Given the description of an element on the screen output the (x, y) to click on. 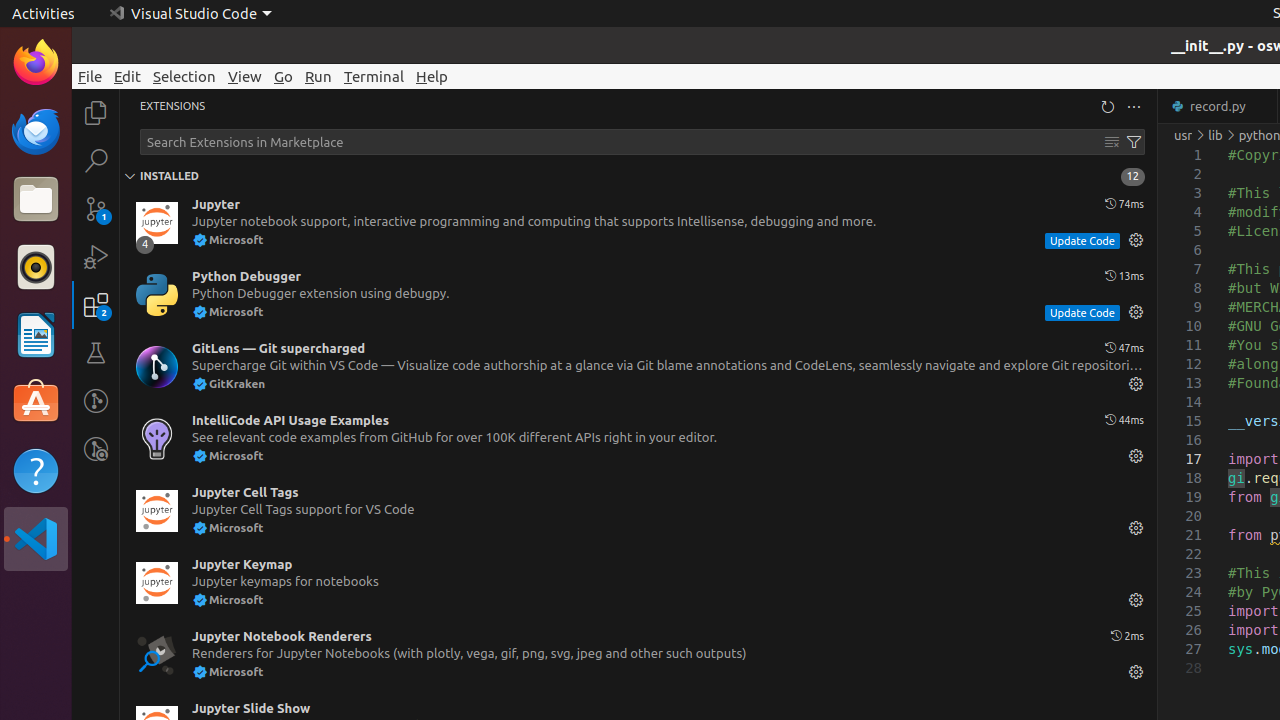
Refresh Element type: push-button (1108, 106)
Jupyter, 2024.8.1, Verified Publisher Microsoft, Jupyter notebook support, interactive programming and computing that supports Intellisense, debugging and more. , Rated 2.71 out of 5 stars by 322 users Element type: list-item (638, 223)
Terminal Element type: push-button (374, 76)
Selection Element type: push-button (184, 76)
Jupyter Cell Tags, 0.1.9, Verified Publisher Microsoft, Jupyter Cell Tags support for VS Code , Rated 5.00 out of 5 stars by 1 users Element type: list-item (638, 511)
